Given the description of an element on the screen output the (x, y) to click on. 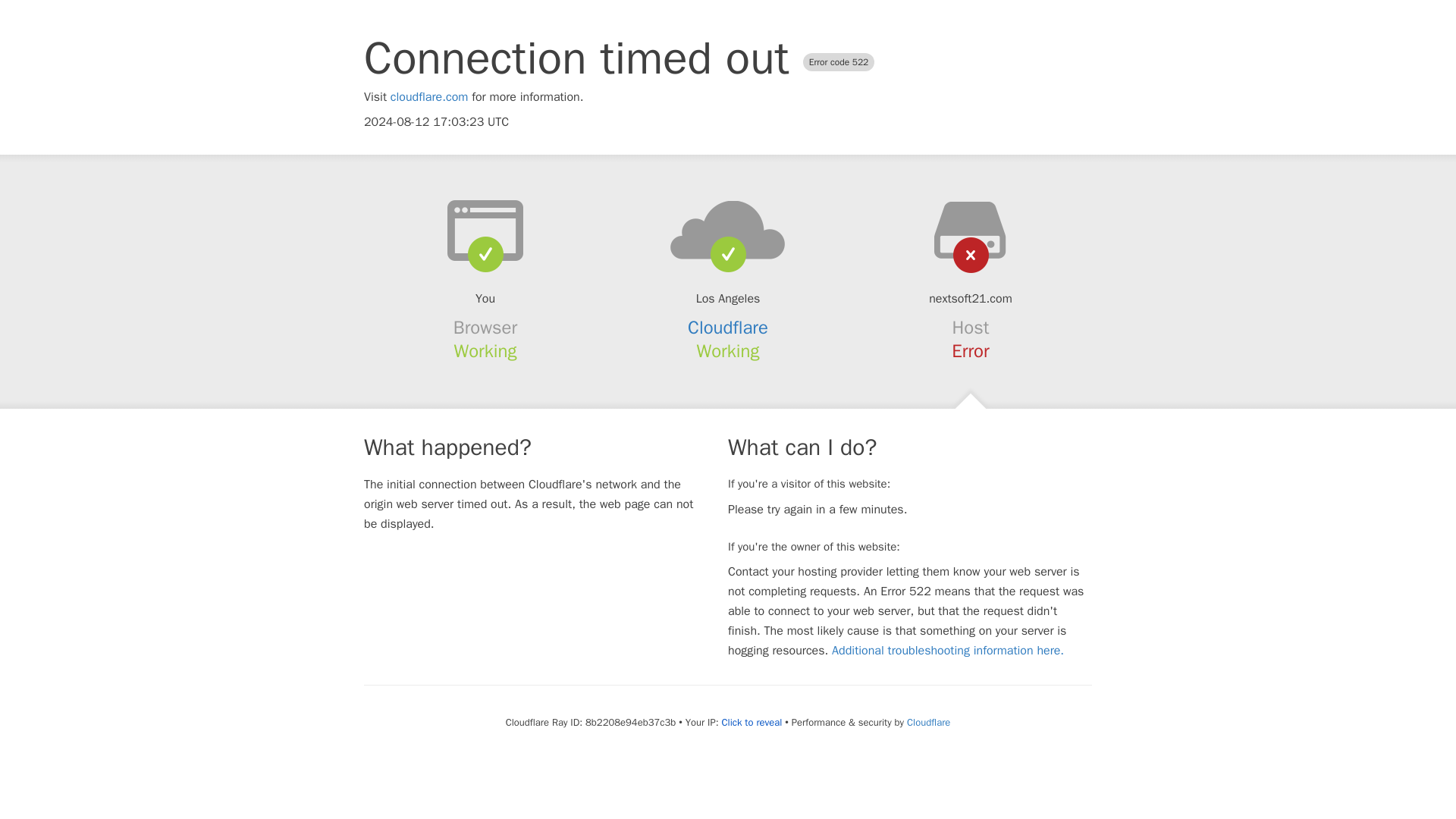
cloudflare.com (429, 96)
Cloudflare (727, 327)
Additional troubleshooting information here. (947, 650)
Cloudflare (928, 721)
Click to reveal (750, 722)
